Given the description of an element on the screen output the (x, y) to click on. 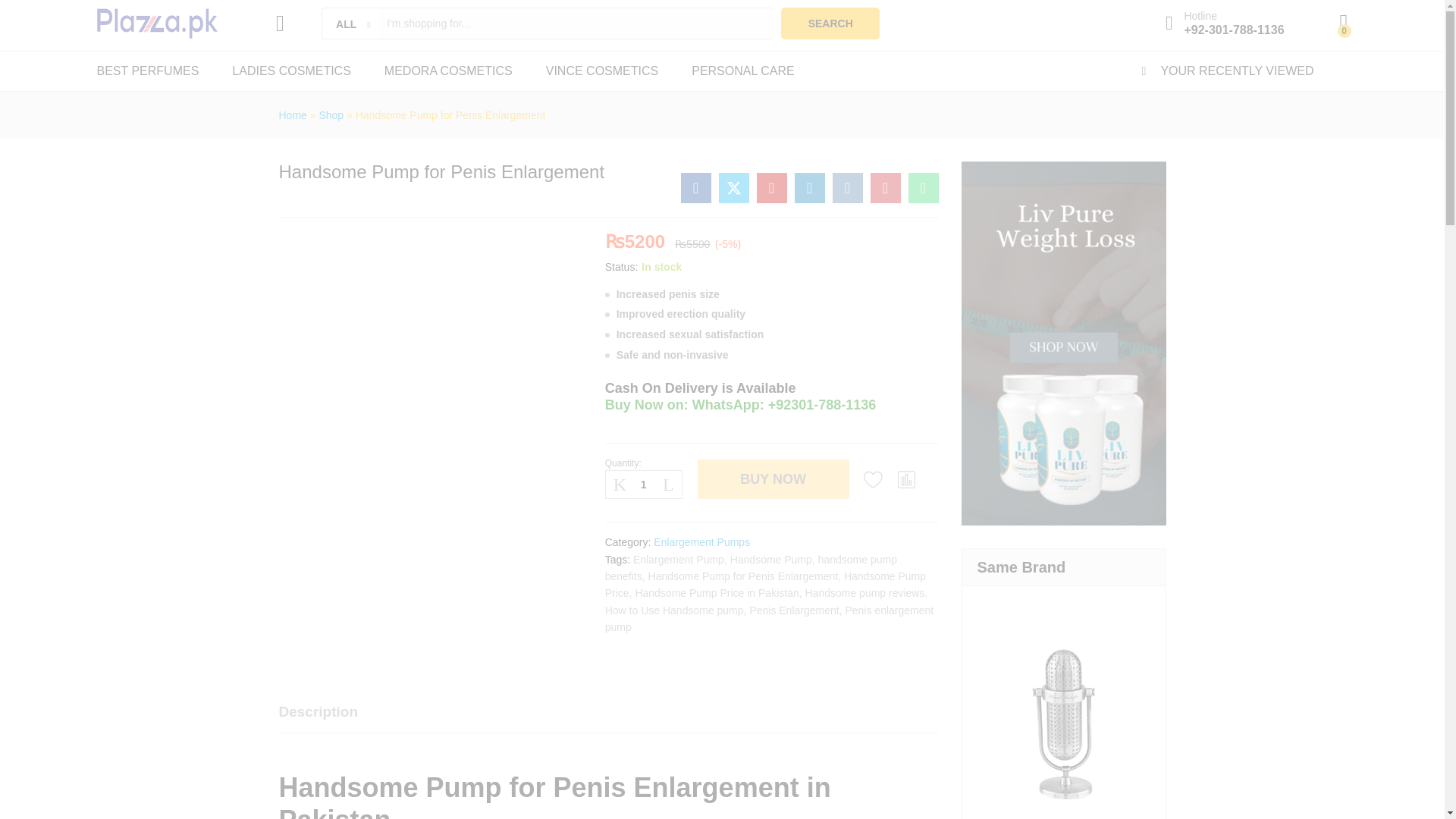
Home (293, 114)
Handsome Pump for Penis Enlargement (772, 187)
Qty (643, 483)
BEST PERFUMES (148, 70)
1 (643, 483)
Shop (330, 114)
Wishlist (873, 479)
SEARCH (829, 23)
LADIES COSMETICS (290, 70)
VINCE COSMETICS (602, 70)
